Given the description of an element on the screen output the (x, y) to click on. 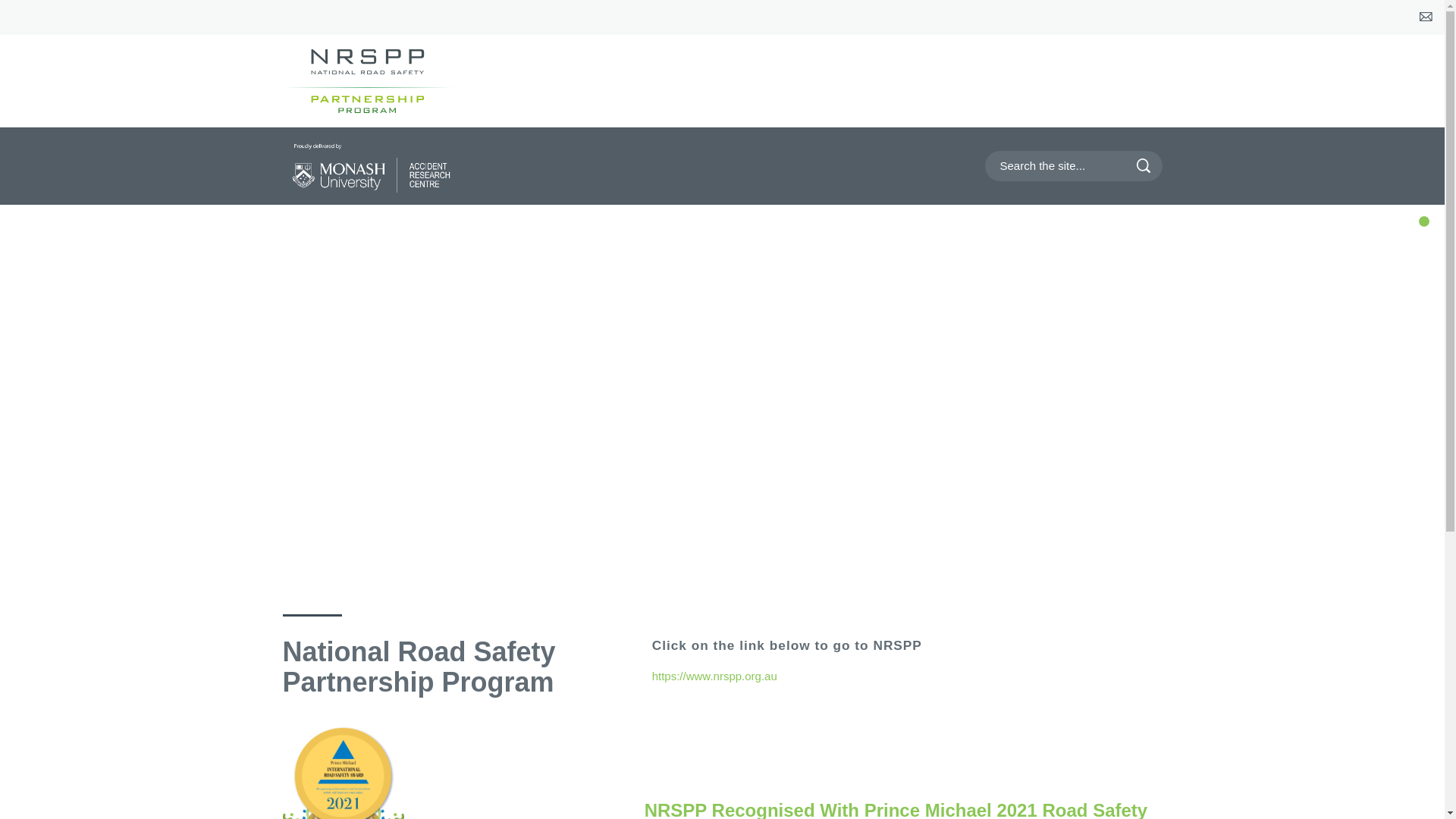
https://www.nrspp.org.au Element type: text (714, 675)
MUARC Logo Element type: hover (371, 167)
1 Element type: text (1423, 221)
https://nrspp.com.au Element type: hover (380, 81)
Scroll Down Element type: hover (721, 538)
Email Us Element type: hover (1423, 16)
